Given the description of an element on the screen output the (x, y) to click on. 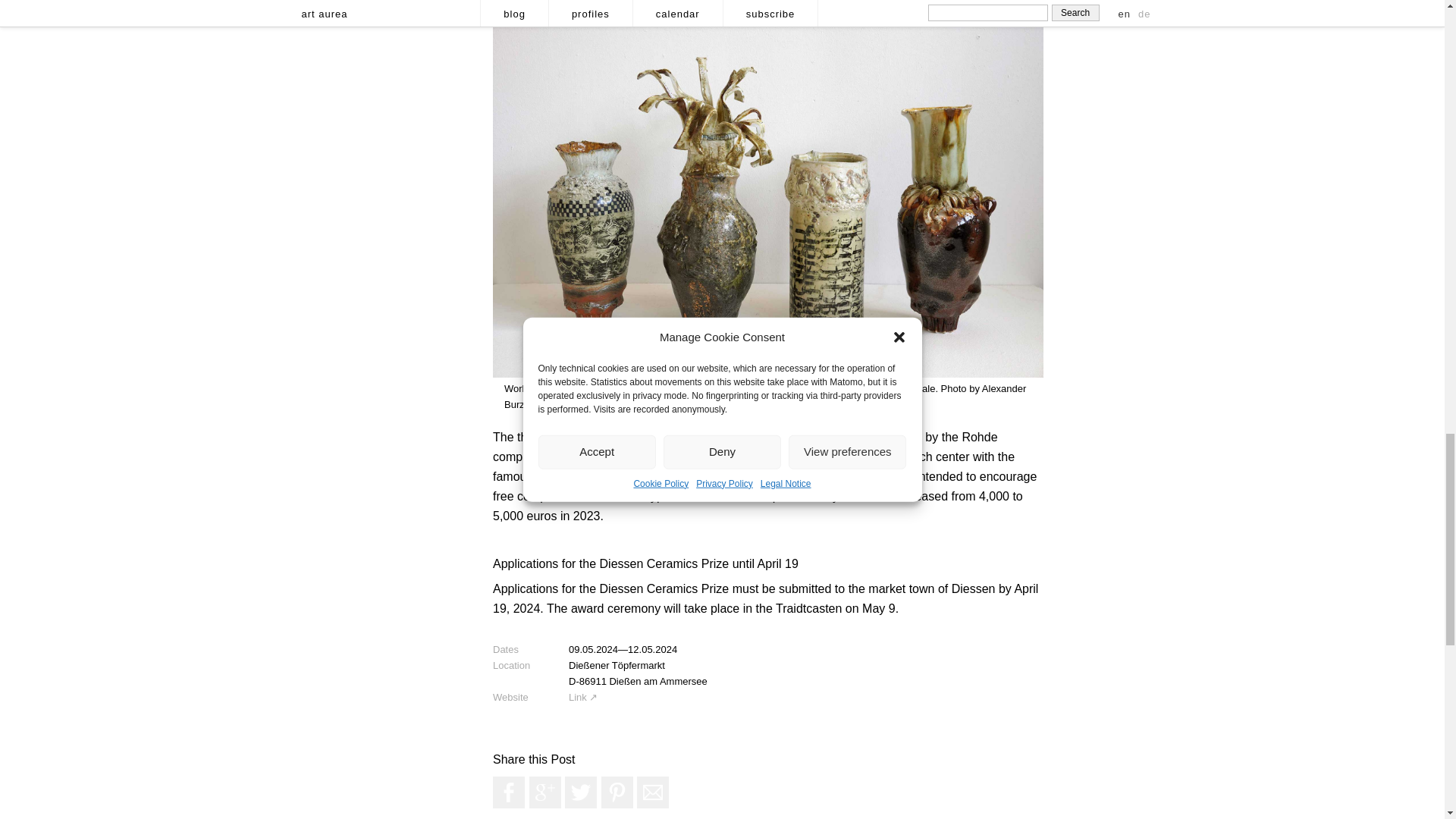
Facebook (508, 792)
Link (582, 696)
Twitter (580, 792)
Pinterest (617, 792)
